Given the description of an element on the screen output the (x, y) to click on. 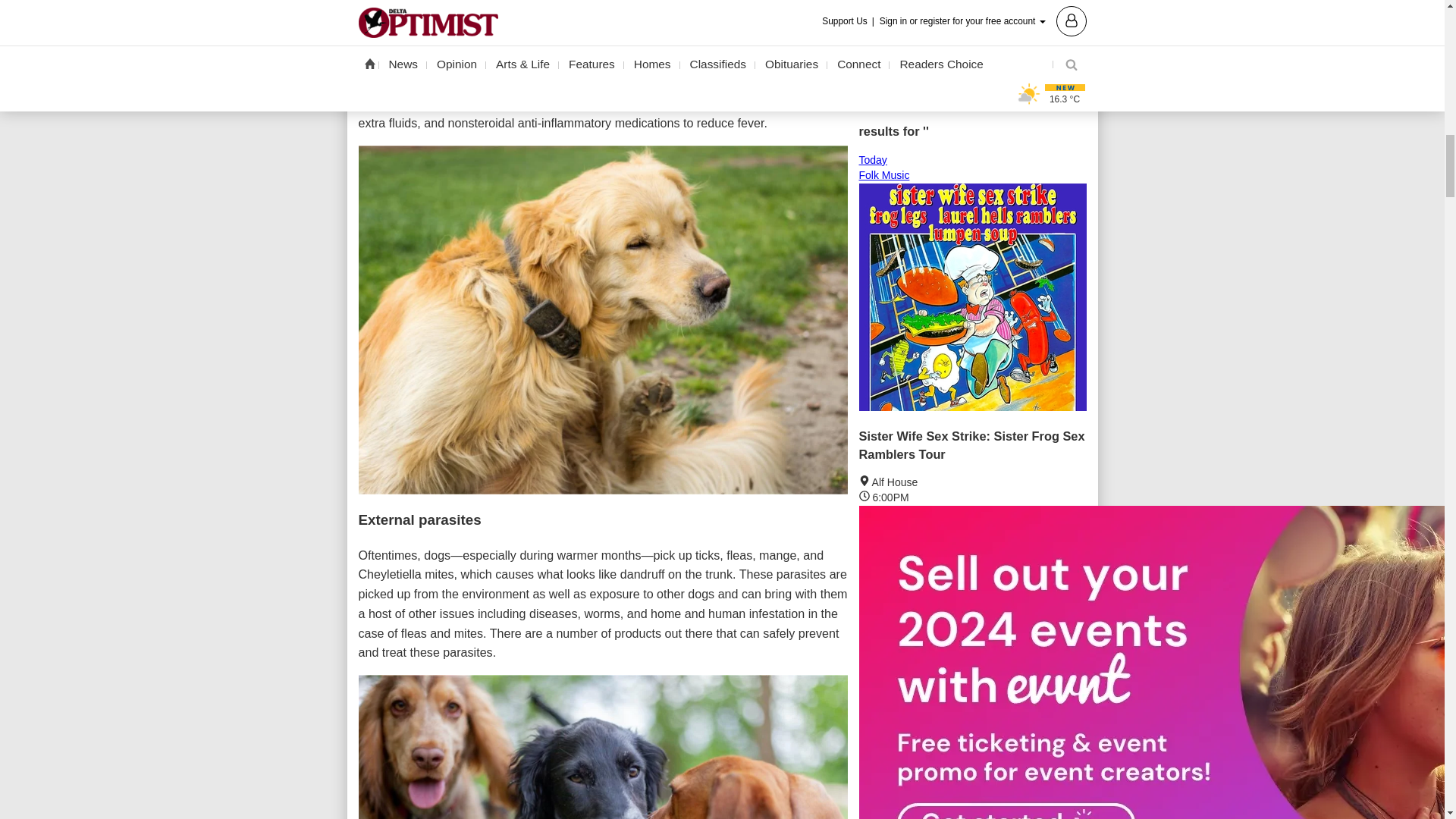
3rd party ad content (972, 16)
